Given the description of an element on the screen output the (x, y) to click on. 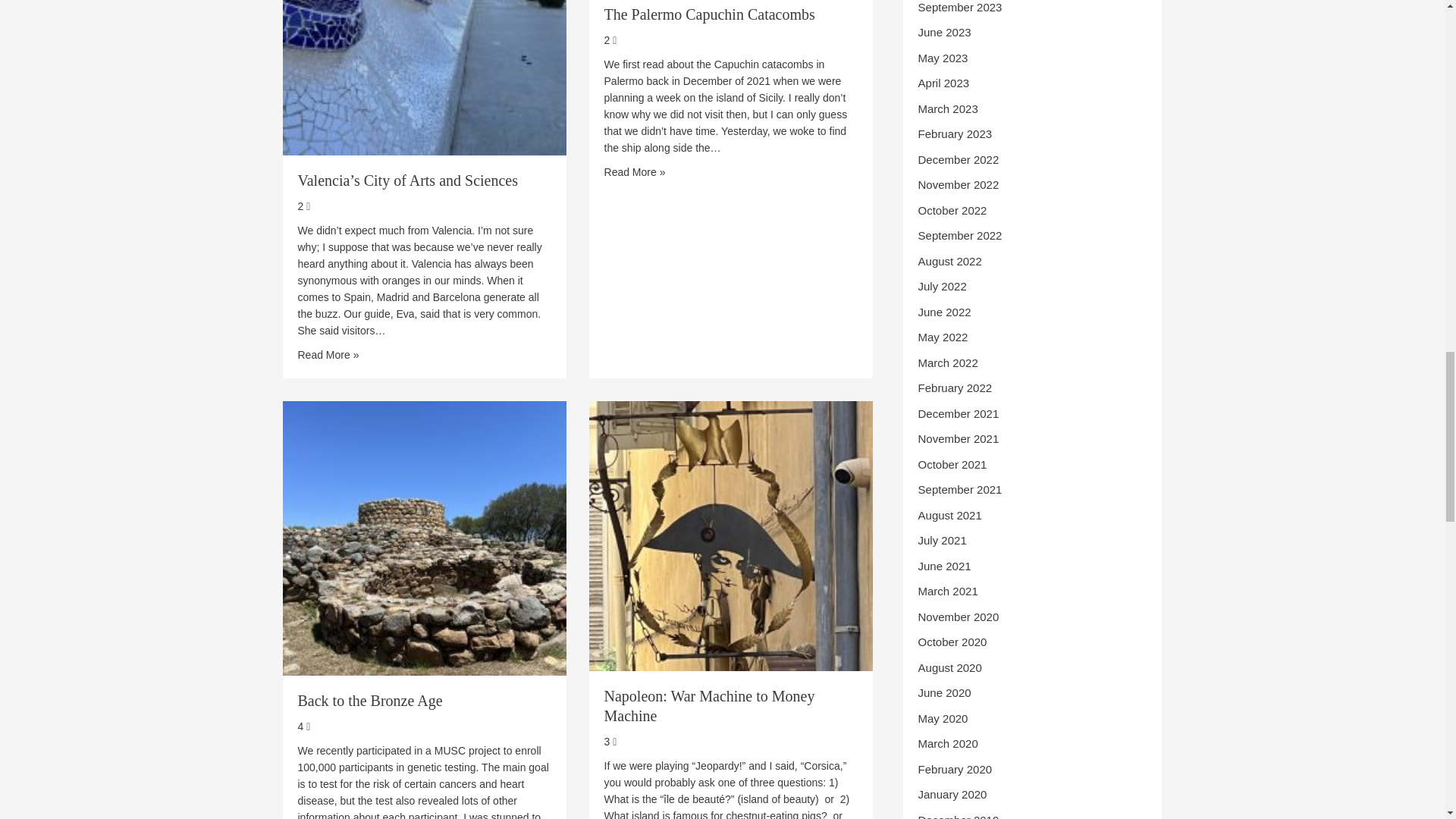
2 (303, 205)
Back to the Bronze Age (369, 700)
Napoleon: War Machine to Money Machine (730, 534)
2 (610, 39)
Napoleon: War Machine to Money Machine (709, 705)
3 (610, 741)
4 (303, 726)
Back to the Bronze Age (424, 536)
Back to the Bronze Age (369, 700)
The Palermo Capuchin Catacombs (709, 13)
The Palermo Capuchin Catacombs (634, 171)
The Palermo Capuchin Catacombs (709, 13)
